Given the description of an element on the screen output the (x, y) to click on. 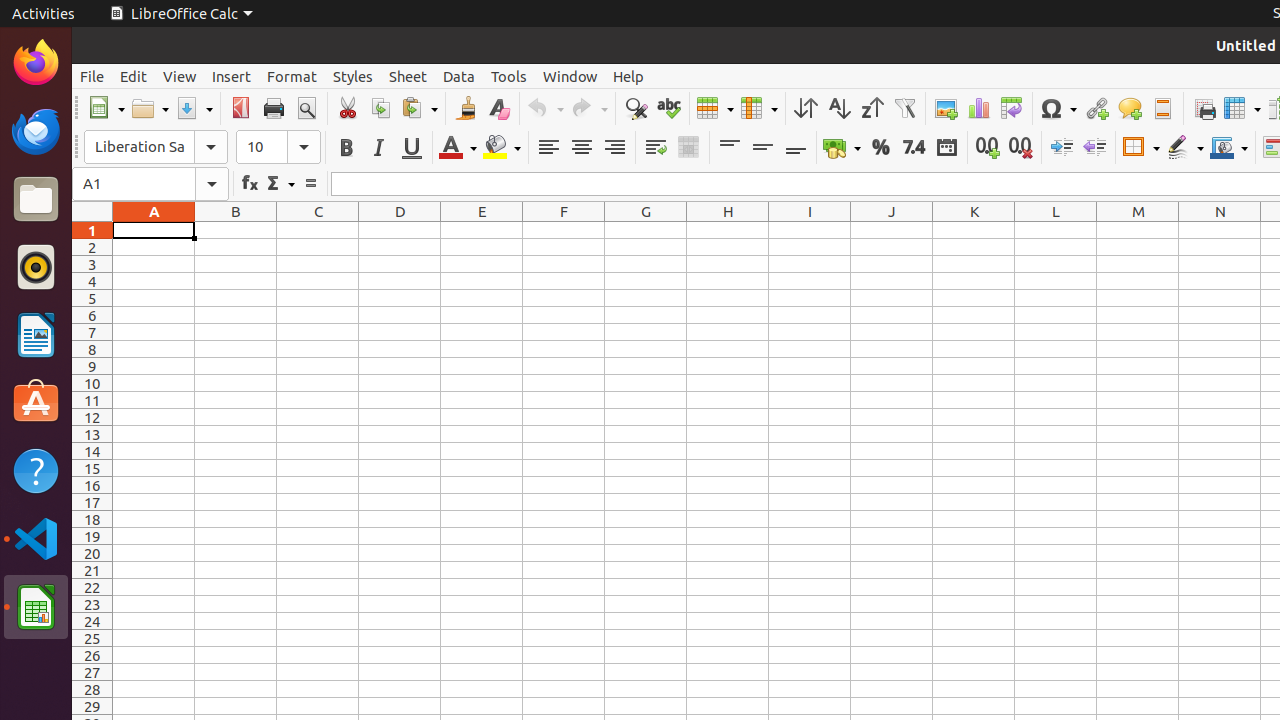
Bold Element type: toggle-button (345, 147)
Print Area Element type: push-button (1203, 108)
Symbol Element type: push-button (1058, 108)
N1 Element type: table-cell (1220, 230)
Sort Descending Element type: push-button (871, 108)
